Given the description of an element on the screen output the (x, y) to click on. 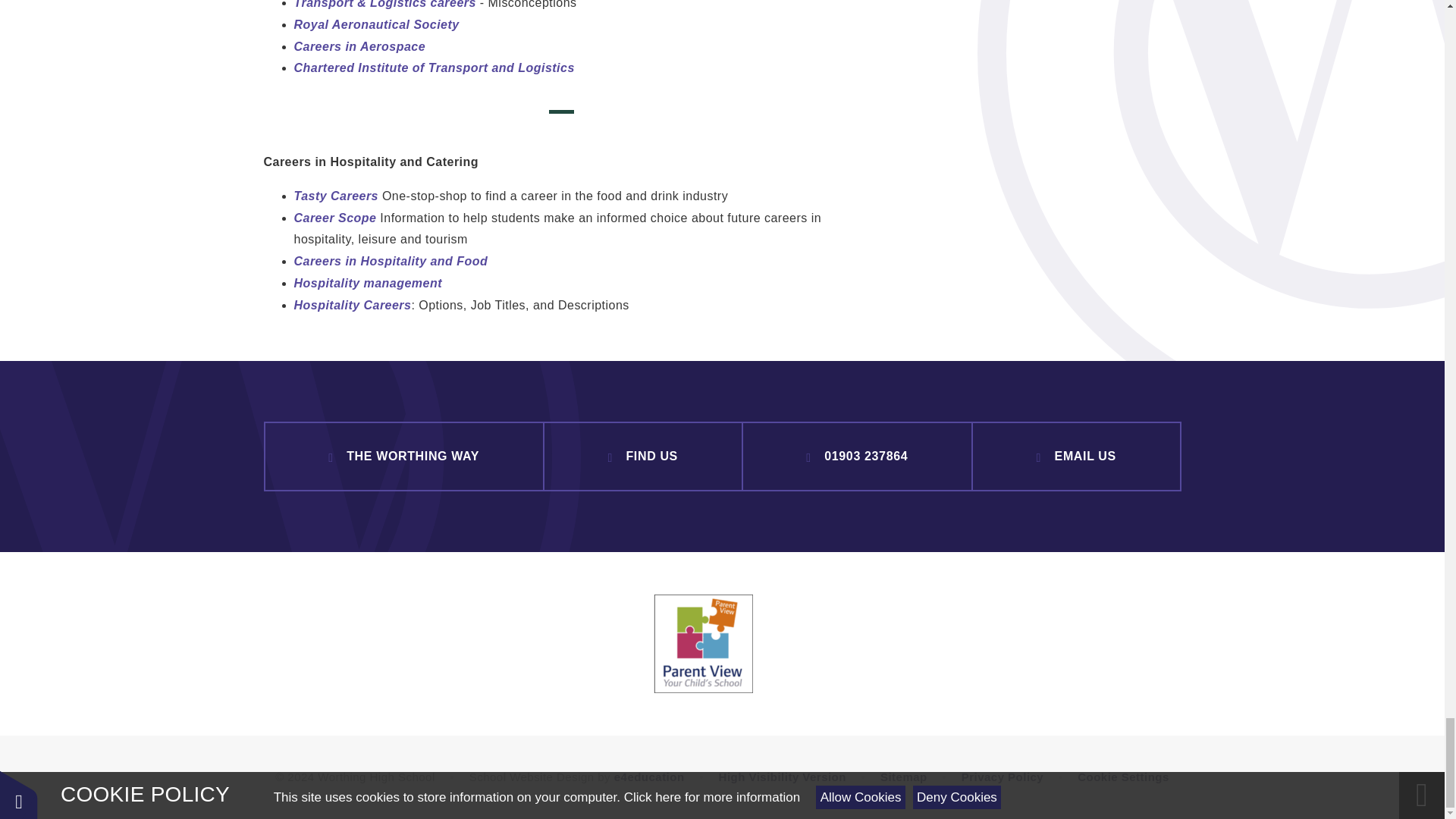
Cookie Settings (1123, 776)
